Given the description of an element on the screen output the (x, y) to click on. 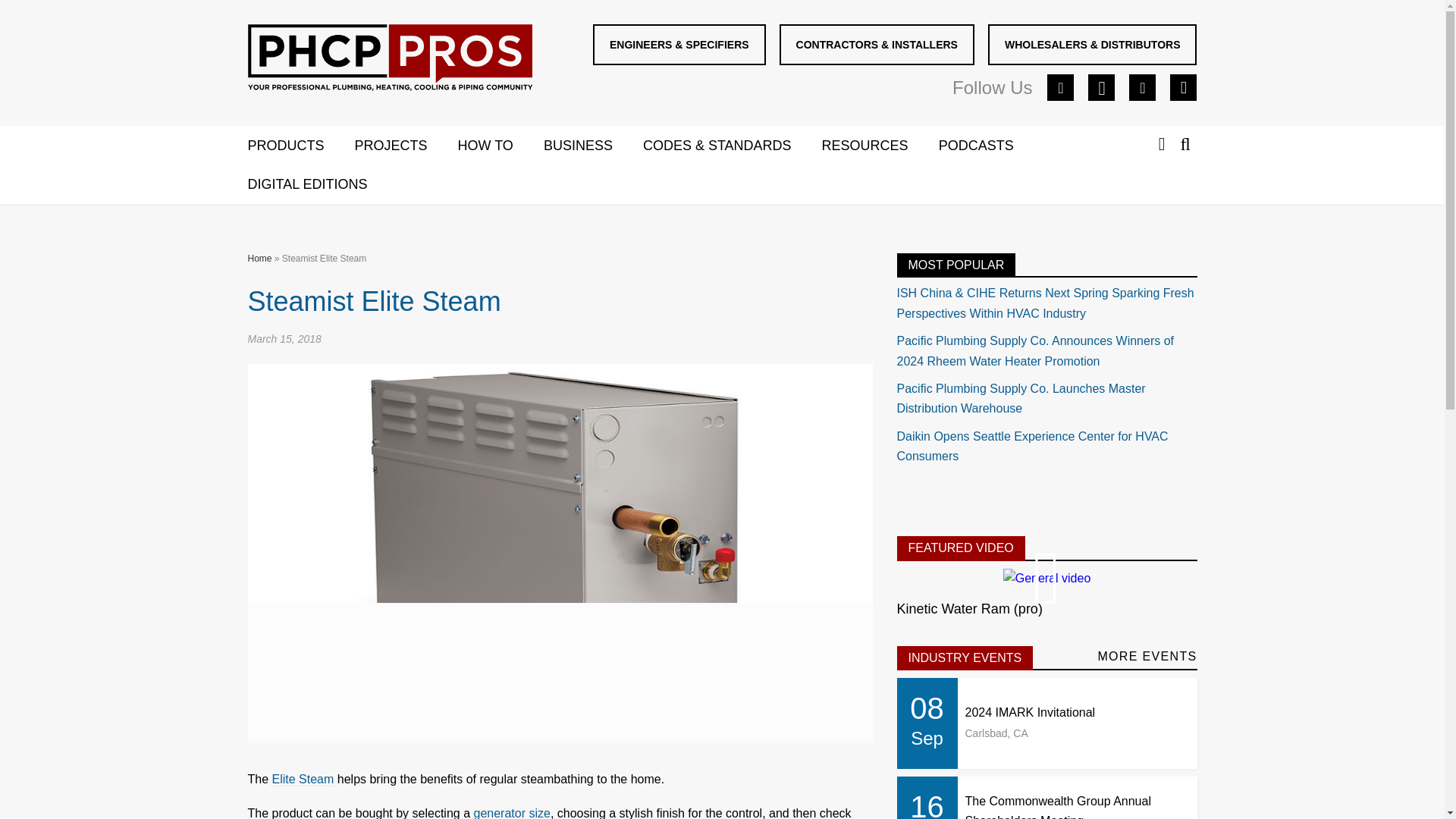
PRODUCTS (300, 146)
PROJECTS (406, 146)
BUSINESS (593, 146)
logo (389, 57)
logo (389, 60)
HOW TO (500, 146)
